Given the description of an element on the screen output the (x, y) to click on. 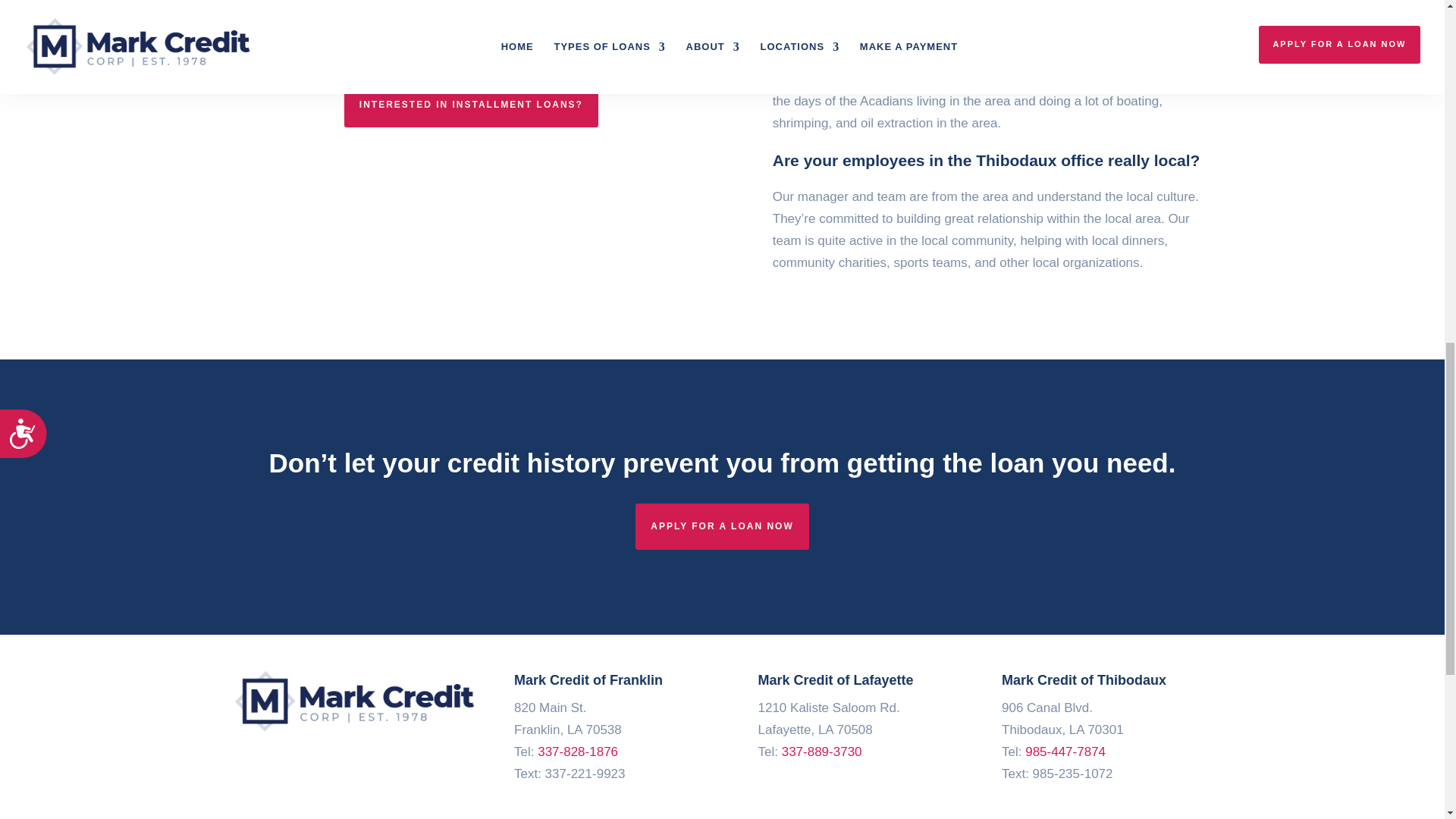
APPLY FOR A LOAN NOW (721, 525)
INTERESTED IN INSTALLMENT LOANS? (470, 104)
985-447-7874 (1065, 751)
INTERESTED IN PERSONAL LOANS? (470, 43)
337-889-3730 (821, 751)
337-828-1876 (577, 751)
Mark Credit Loans (356, 701)
